Given the description of an element on the screen output the (x, y) to click on. 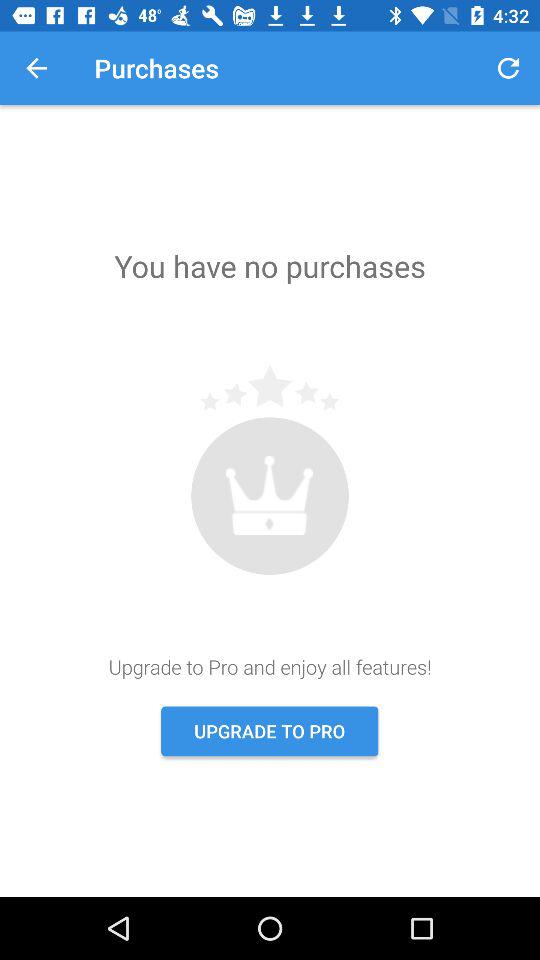
select the icon above you have no icon (508, 67)
